Given the description of an element on the screen output the (x, y) to click on. 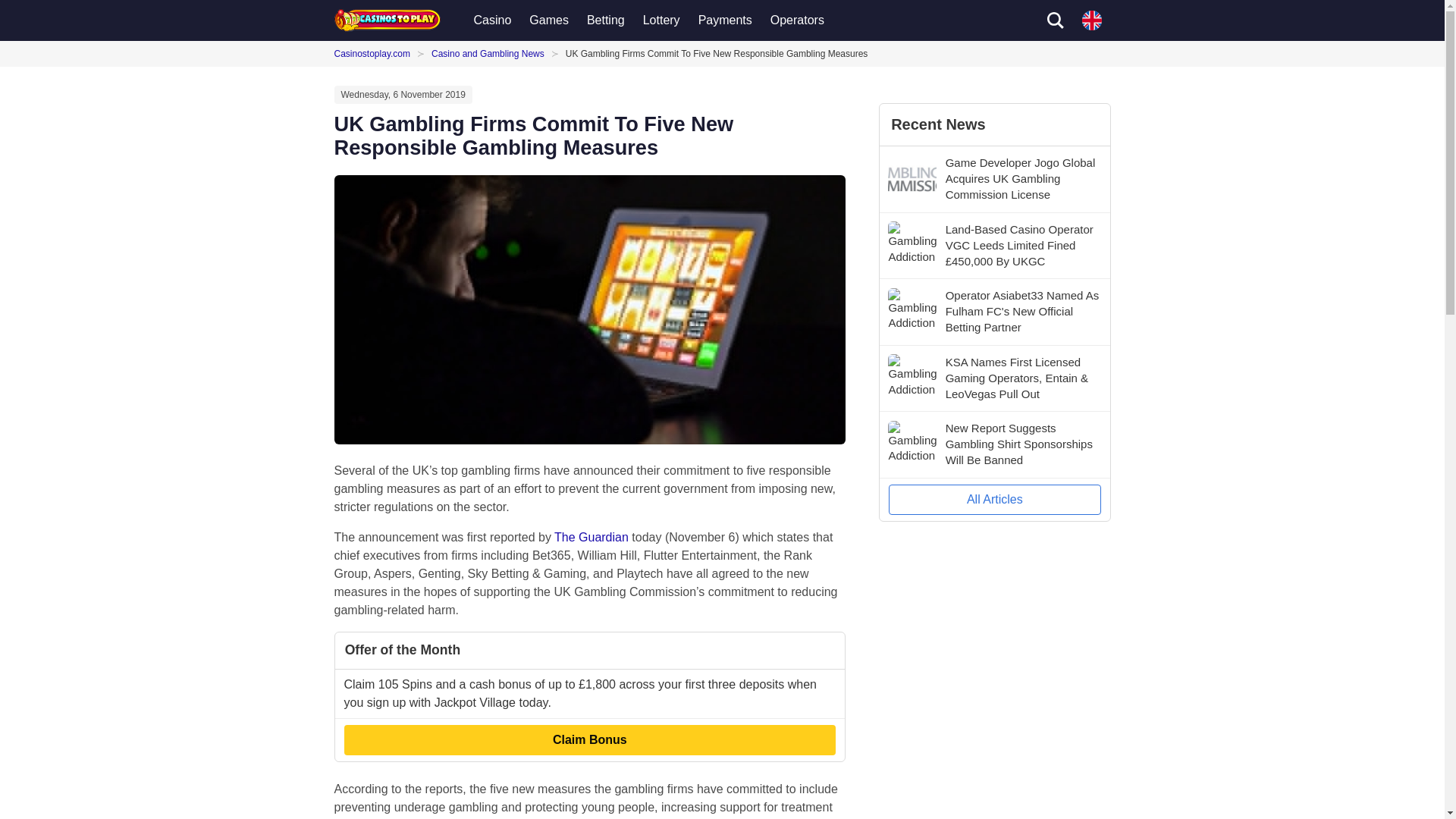
Casino and Gambling News (488, 53)
Claim Bonus (589, 739)
Casinostoplay.com Logo (386, 20)
Casinostoplay.com (374, 53)
The Guardian (591, 536)
